Given the description of an element on the screen output the (x, y) to click on. 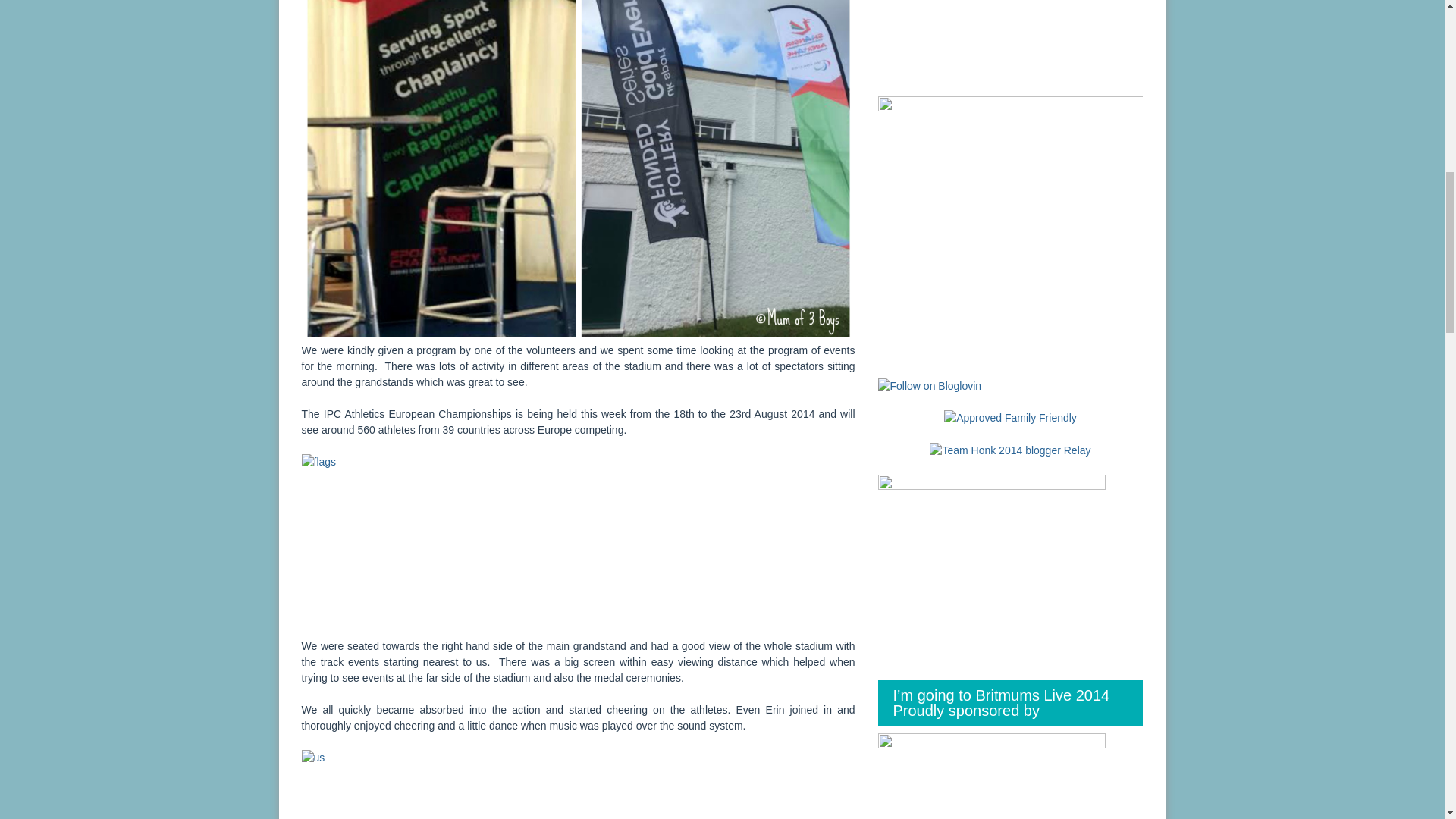
Follow Mum of 3 Boys on Bloglovin (929, 385)
AFF Assessor Badge (1010, 417)
Team Honk 2014 blogger Relay (1010, 449)
Approved Family Friendly Trustmark (1010, 417)
